Given the description of an element on the screen output the (x, y) to click on. 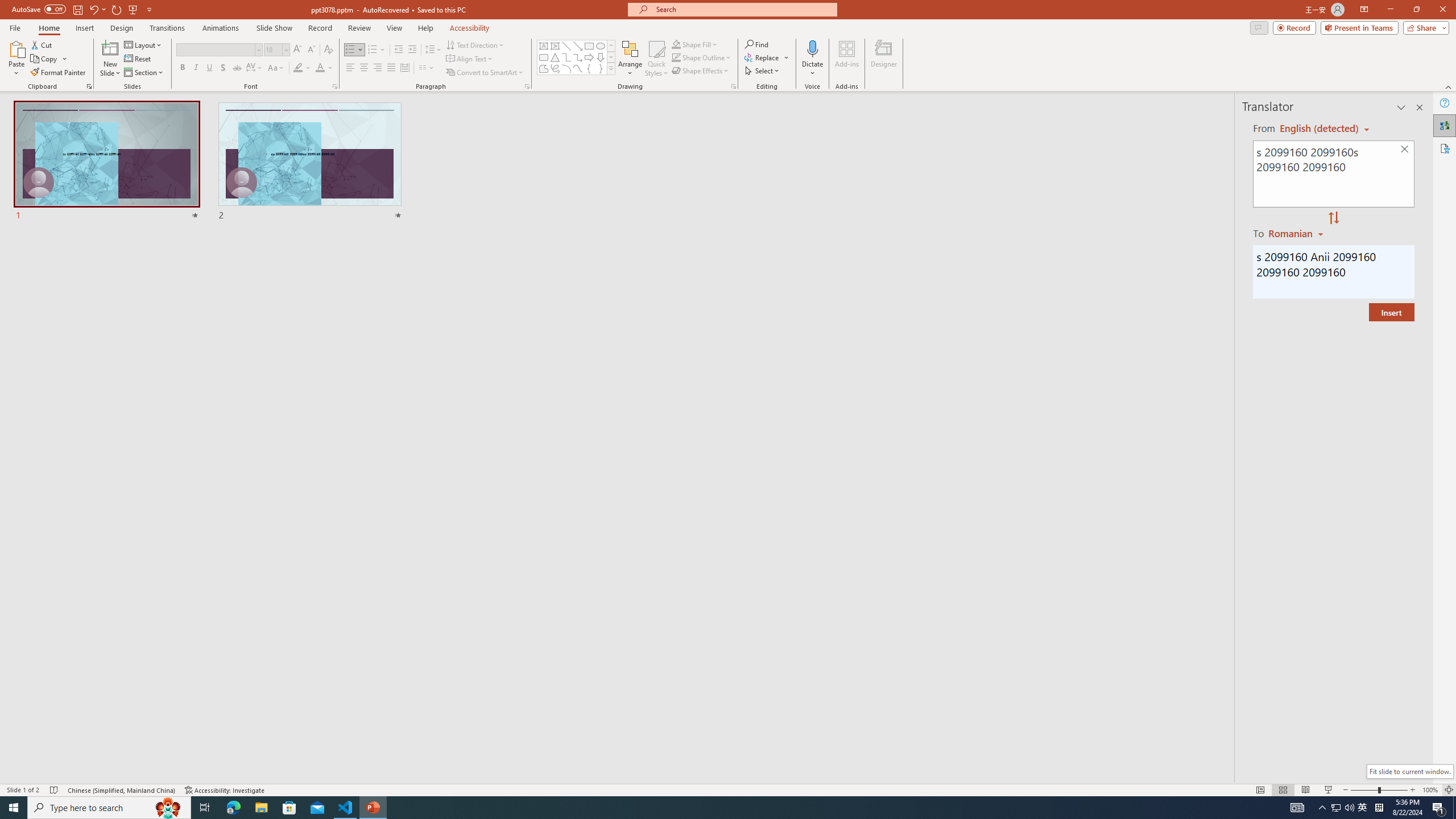
Text Direction (476, 44)
Increase Font Size (297, 49)
Shadow (223, 67)
Fit slide to current window. (1410, 771)
Distributed (404, 67)
Quick Styles (656, 58)
Align Right (377, 67)
Columns (426, 67)
